Given the description of an element on the screen output the (x, y) to click on. 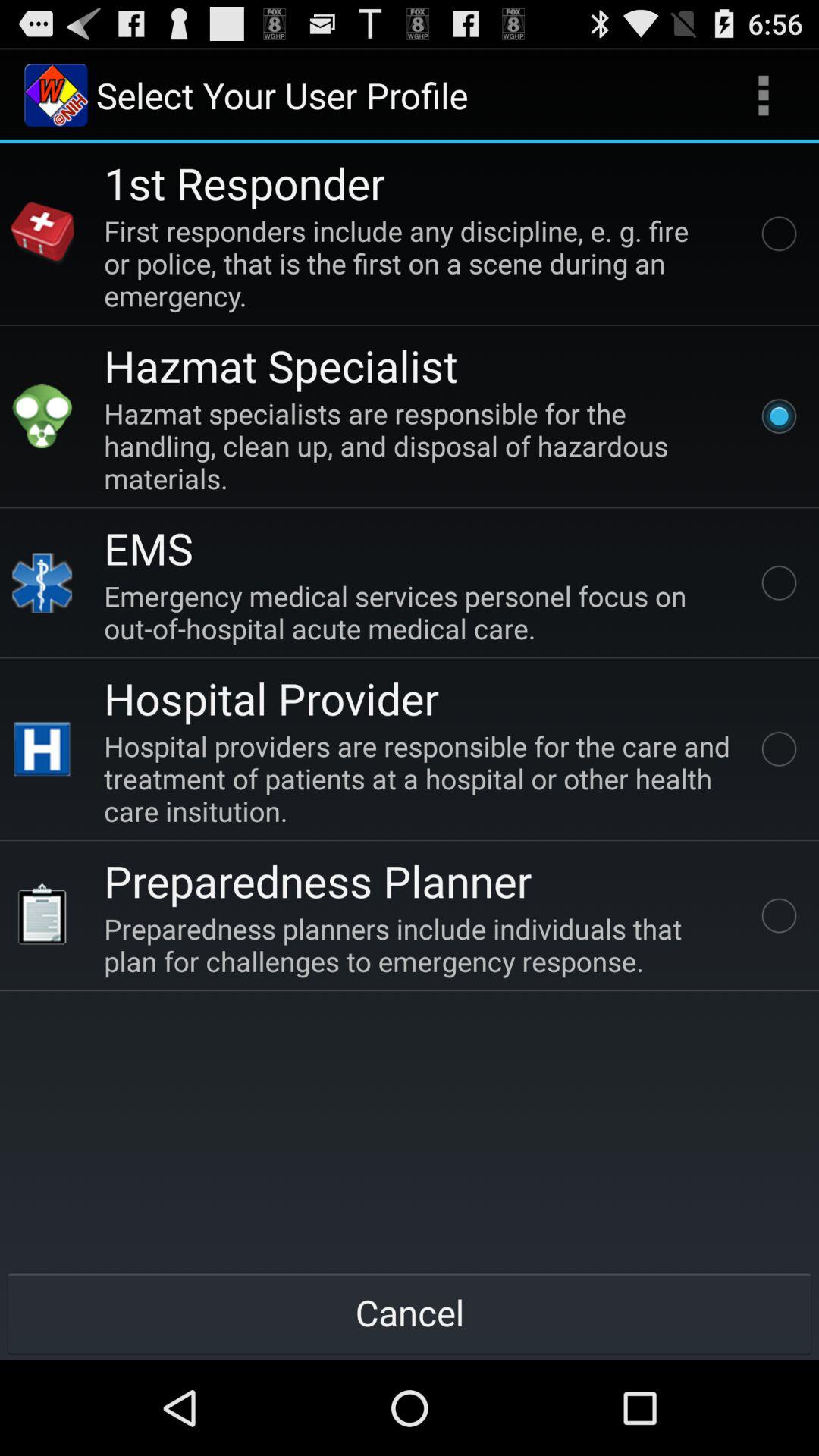
open the app next to the select your user app (763, 95)
